Given the description of an element on the screen output the (x, y) to click on. 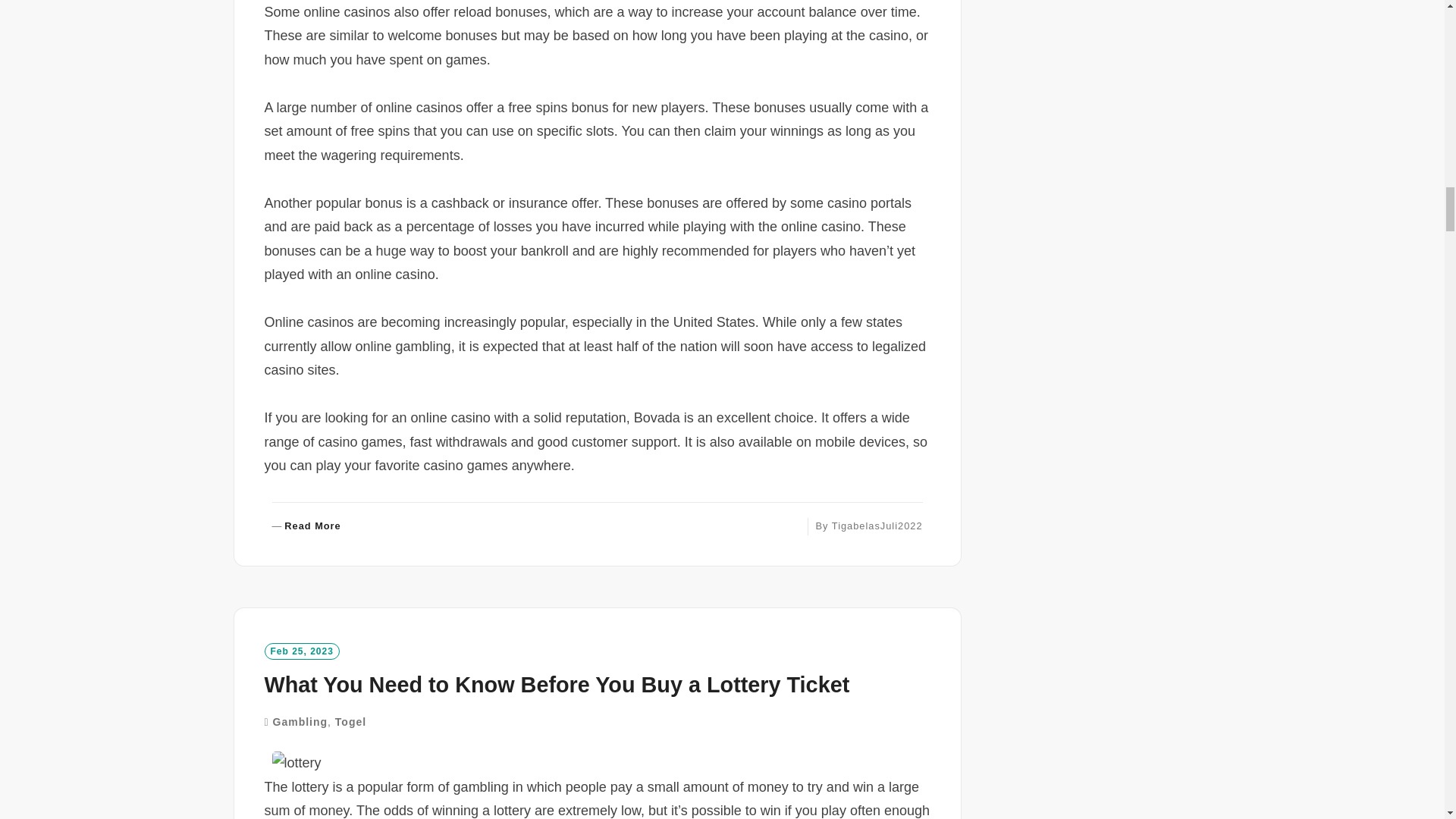
Togel (350, 721)
TigabelasJuli2022 (877, 525)
Gambling (301, 721)
Feb 25, 2023 (301, 651)
What You Need to Know Before You Buy a Lottery Ticket (555, 684)
